Given the description of an element on the screen output the (x, y) to click on. 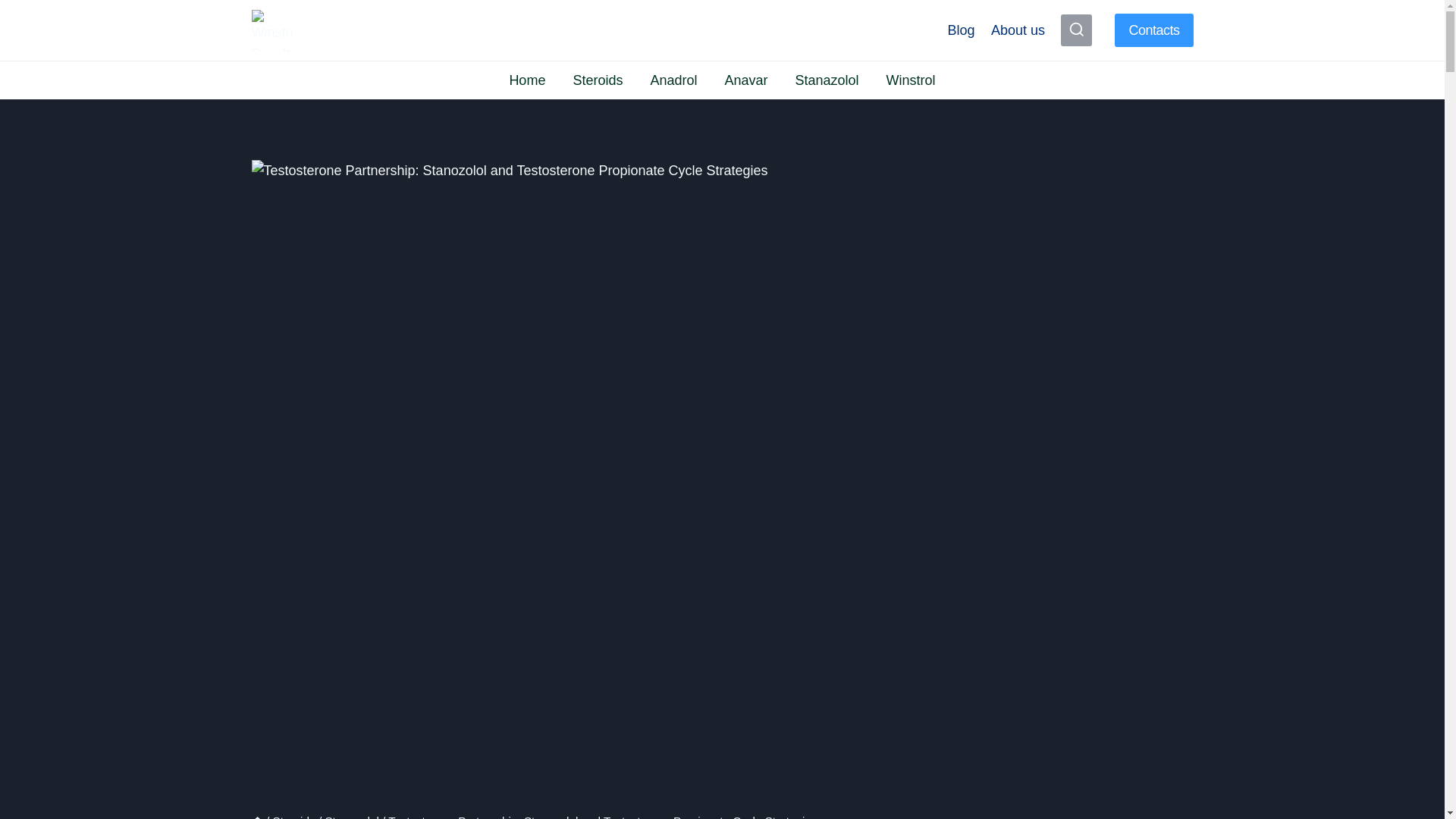
Anadrol (673, 80)
Blog (961, 30)
Steroids (294, 816)
Contacts (1153, 29)
Winstrol Results (357, 29)
Winstrol (910, 80)
Home (257, 816)
Stanazolol (826, 80)
About us (1017, 30)
Home (527, 80)
